Given the description of an element on the screen output the (x, y) to click on. 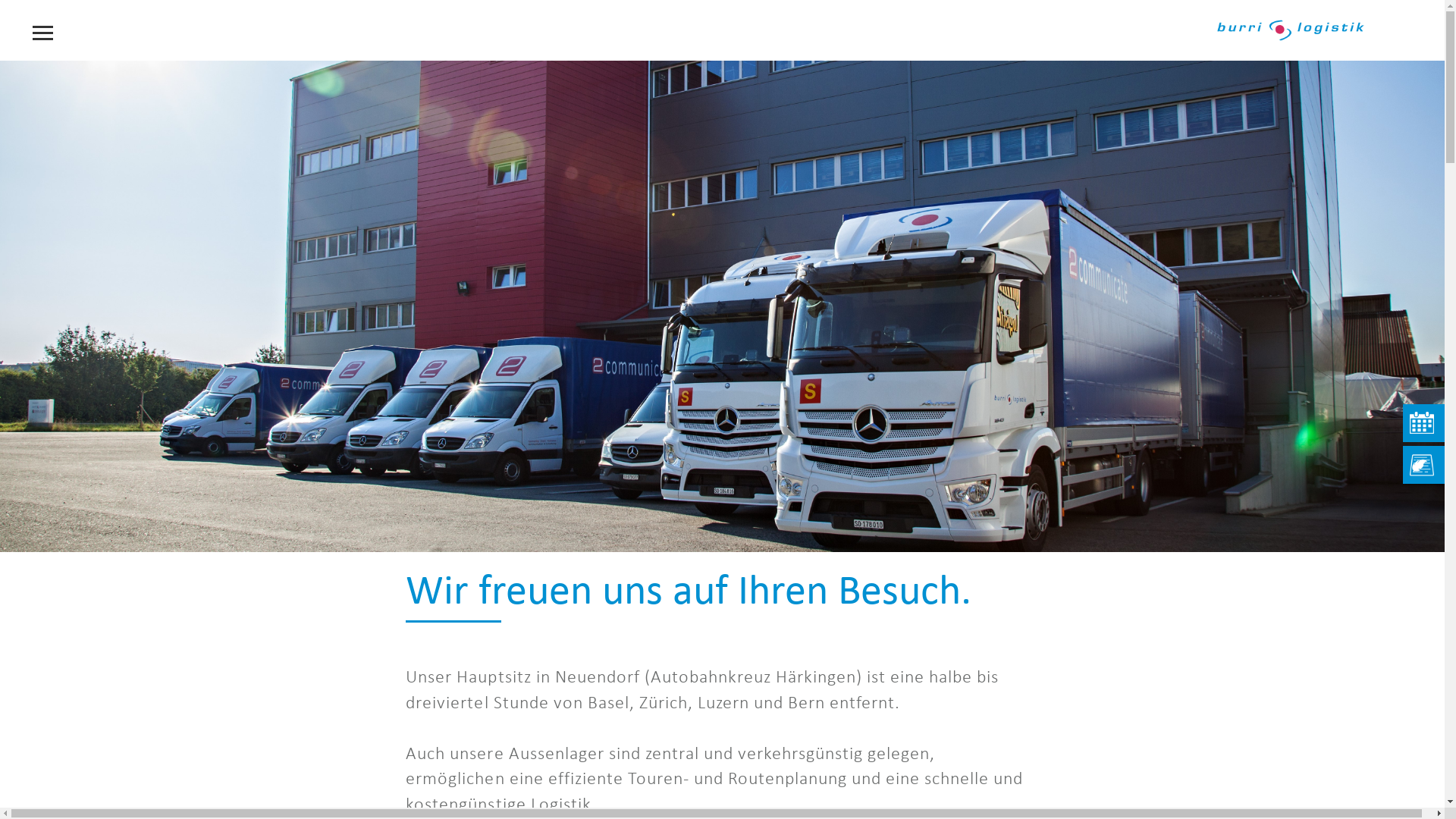
Burri Logistik Logo Element type: hover (1290, 29)
